Given the description of an element on the screen output the (x, y) to click on. 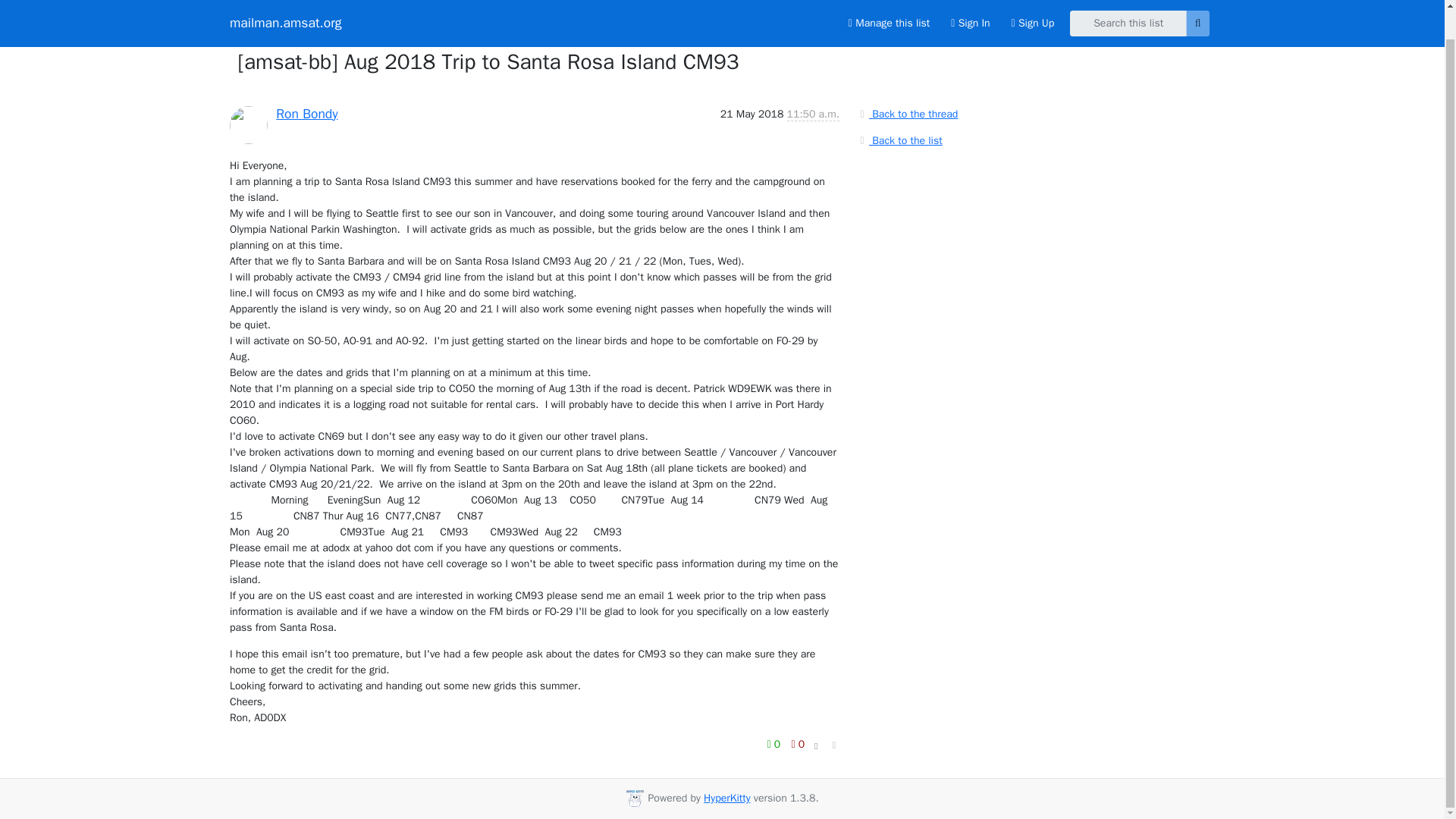
Sign In (970, 2)
mailman.amsat.org (286, 2)
Manage this list (889, 2)
Back to the thread (907, 113)
Back to the list (899, 139)
0 (797, 743)
thread (257, 41)
Ron Bondy (306, 112)
Sign Up (1033, 2)
See the profile for Ron Bondy (306, 112)
0 (774, 743)
HyperKitty (727, 797)
You must be logged-in to vote. (797, 743)
Sender's time: May 21, 2018, 4:50 p.m. (813, 114)
You must be logged-in to vote. (774, 743)
